Given the description of an element on the screen output the (x, y) to click on. 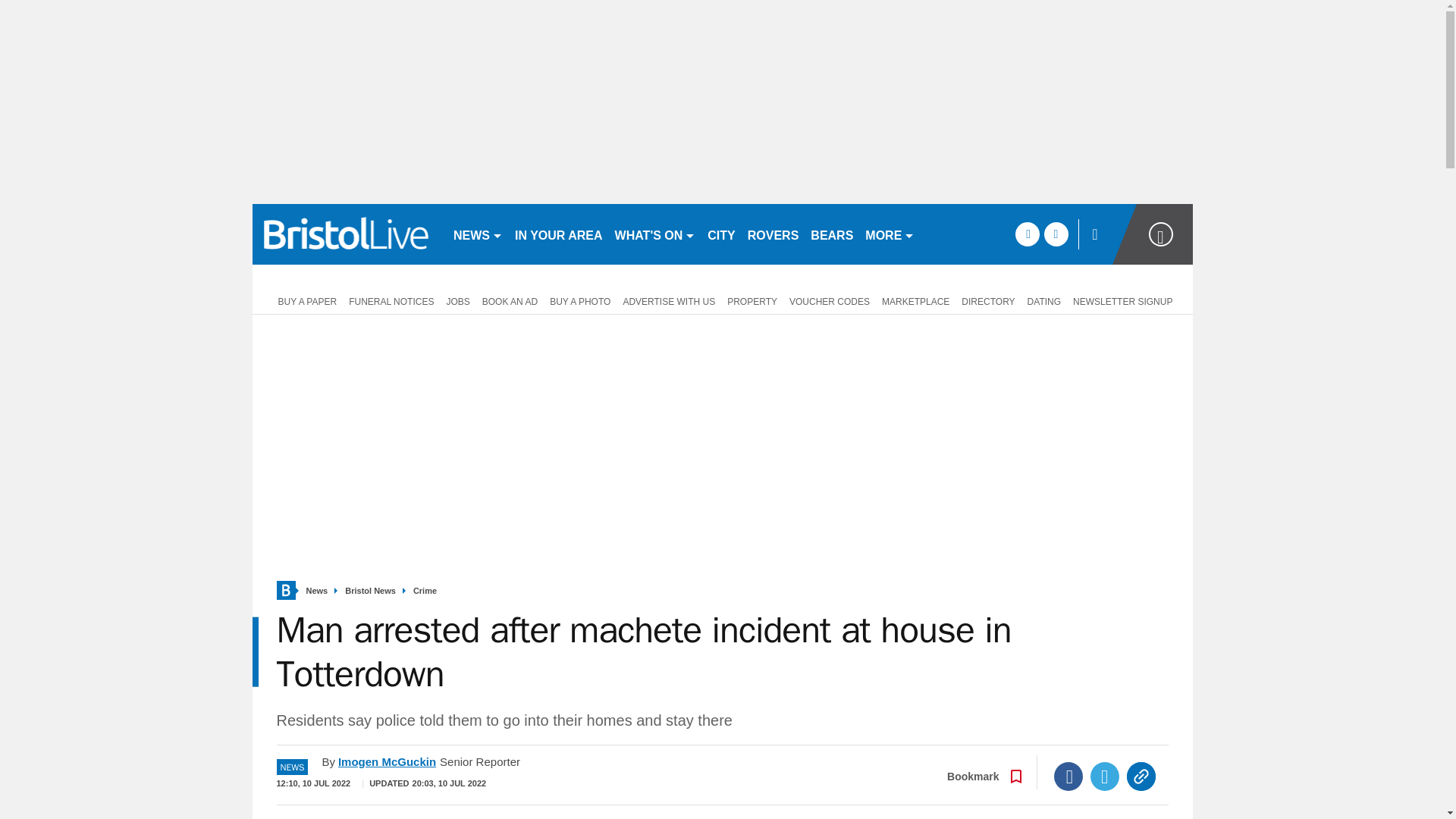
Facebook (1068, 776)
WHAT'S ON (654, 233)
NEWS (477, 233)
MORE (889, 233)
Twitter (1104, 776)
IN YOUR AREA (558, 233)
BEARS (832, 233)
facebook (1026, 233)
twitter (1055, 233)
bristolpost (345, 233)
